Given the description of an element on the screen output the (x, y) to click on. 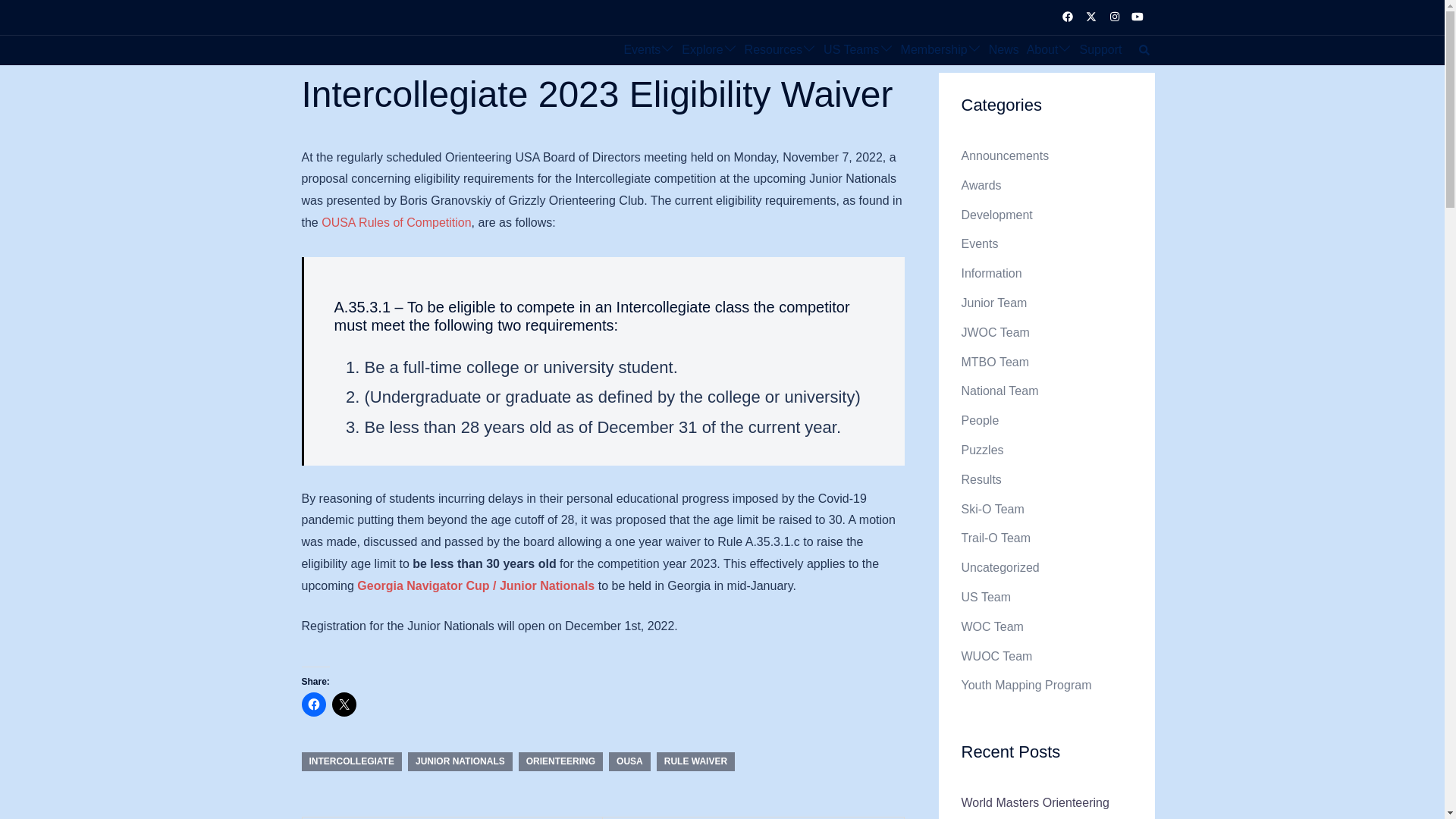
About (1042, 50)
Click to share on X (343, 704)
Resources (773, 50)
Explore (701, 50)
Events (642, 50)
Click to share on Facebook (313, 704)
Information on Orienteering Events (642, 50)
US Teams (851, 50)
Membership (934, 50)
News (1003, 50)
